Given the description of an element on the screen output the (x, y) to click on. 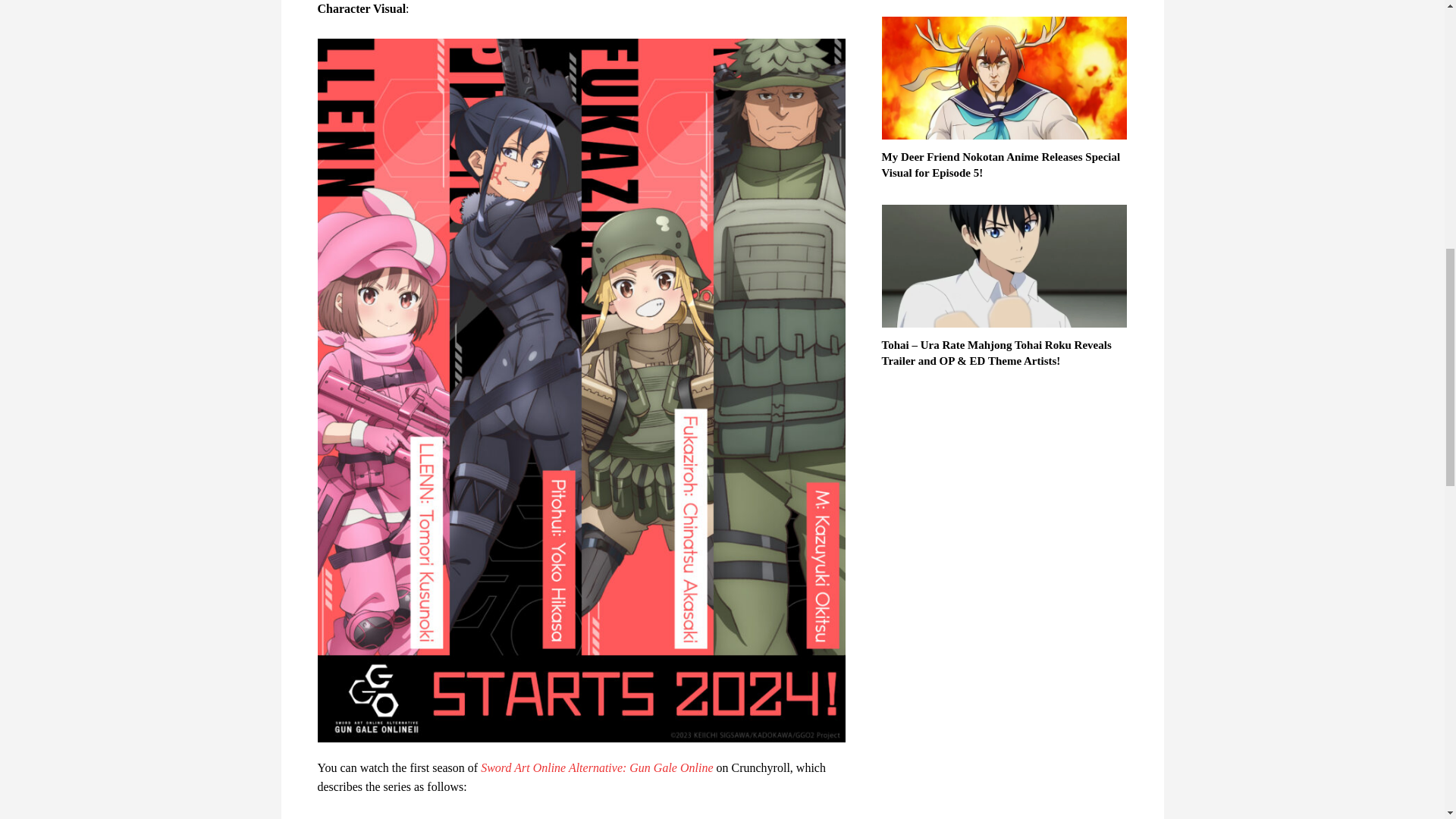
Sword Art Online Alternative: Gun Gale Online (596, 767)
